Given the description of an element on the screen output the (x, y) to click on. 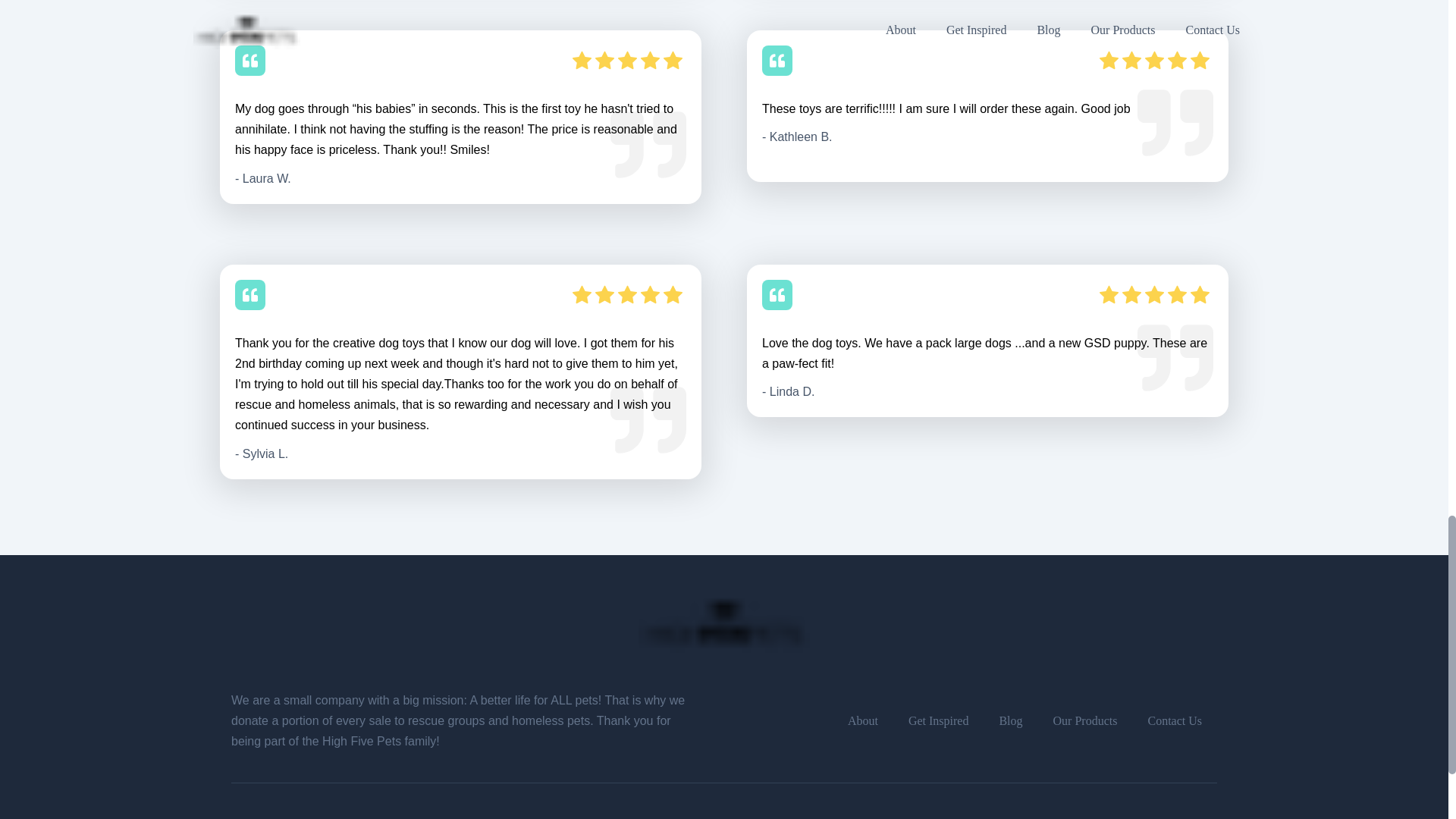
Get Inspired (937, 720)
About (862, 720)
Contact Us (1173, 720)
Our Products (1085, 720)
Blog (1010, 720)
Privacy Policy (662, 816)
